Given the description of an element on the screen output the (x, y) to click on. 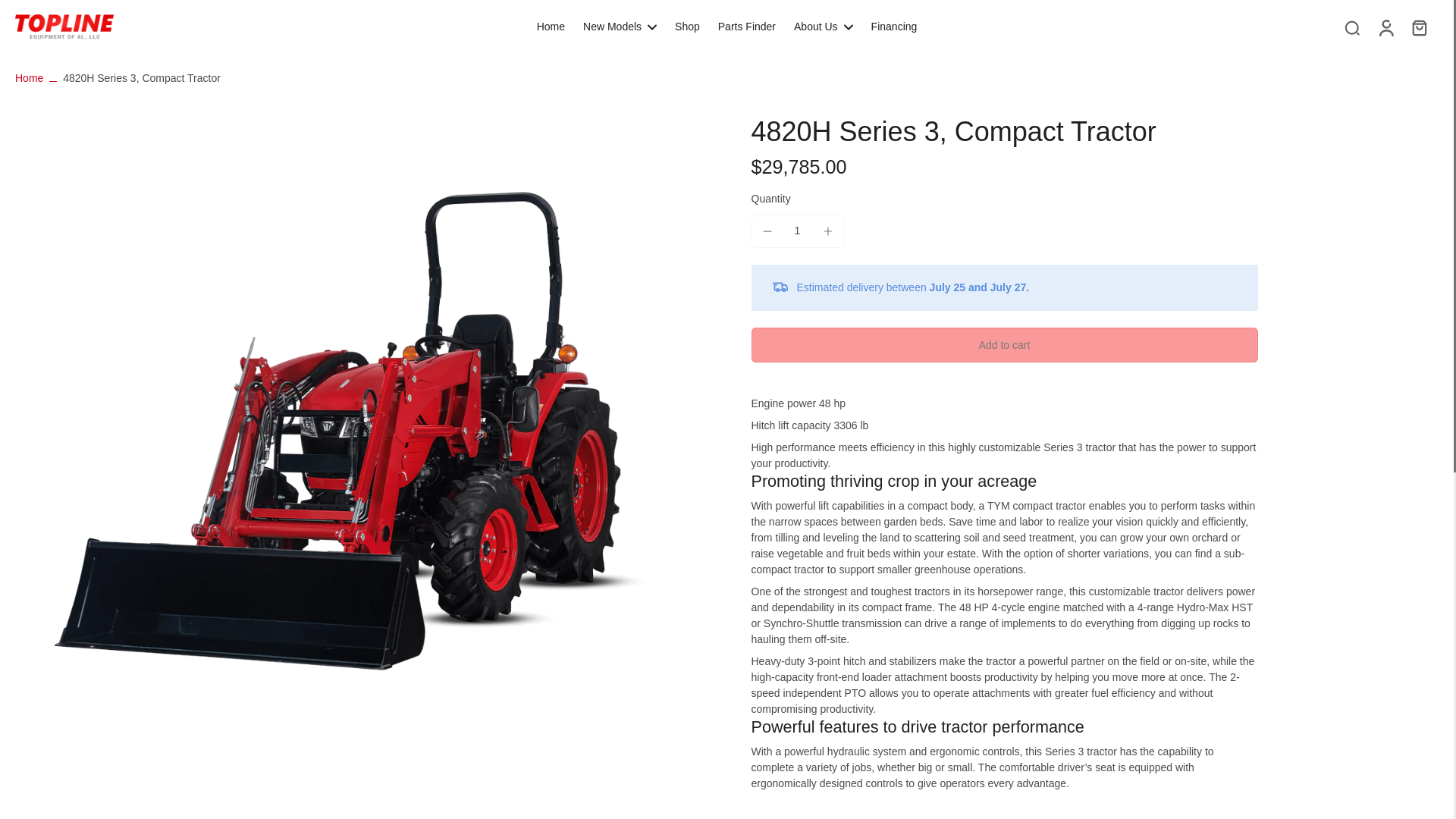
Home (550, 26)
1 (797, 230)
Skip to content (19, 10)
Shop (687, 26)
Parts Finder (746, 26)
Financing (893, 26)
New Models (619, 26)
Home (28, 78)
About Us (823, 26)
